Given the description of an element on the screen output the (x, y) to click on. 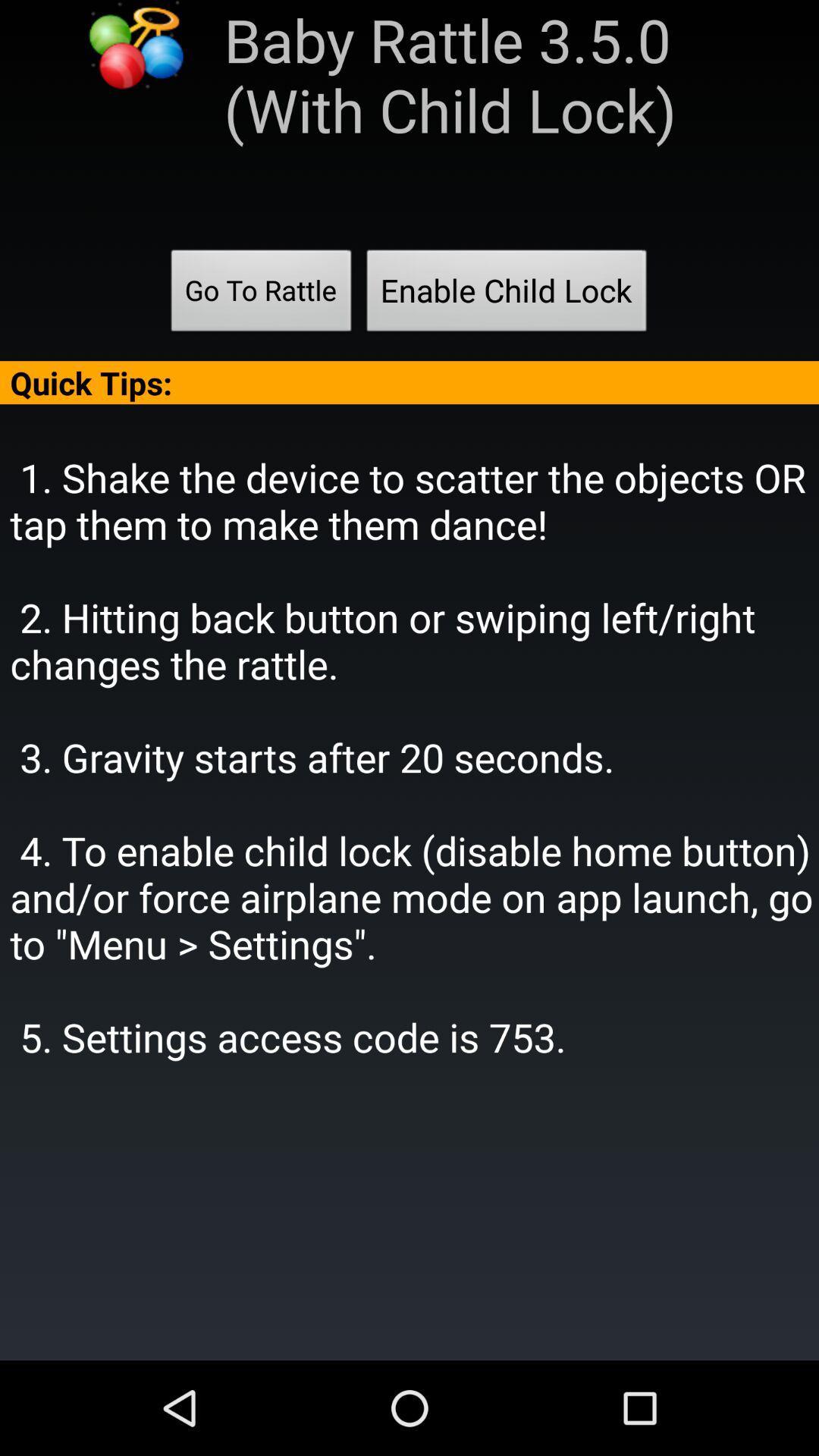
flip to the go to rattle item (261, 294)
